Given the description of an element on the screen output the (x, y) to click on. 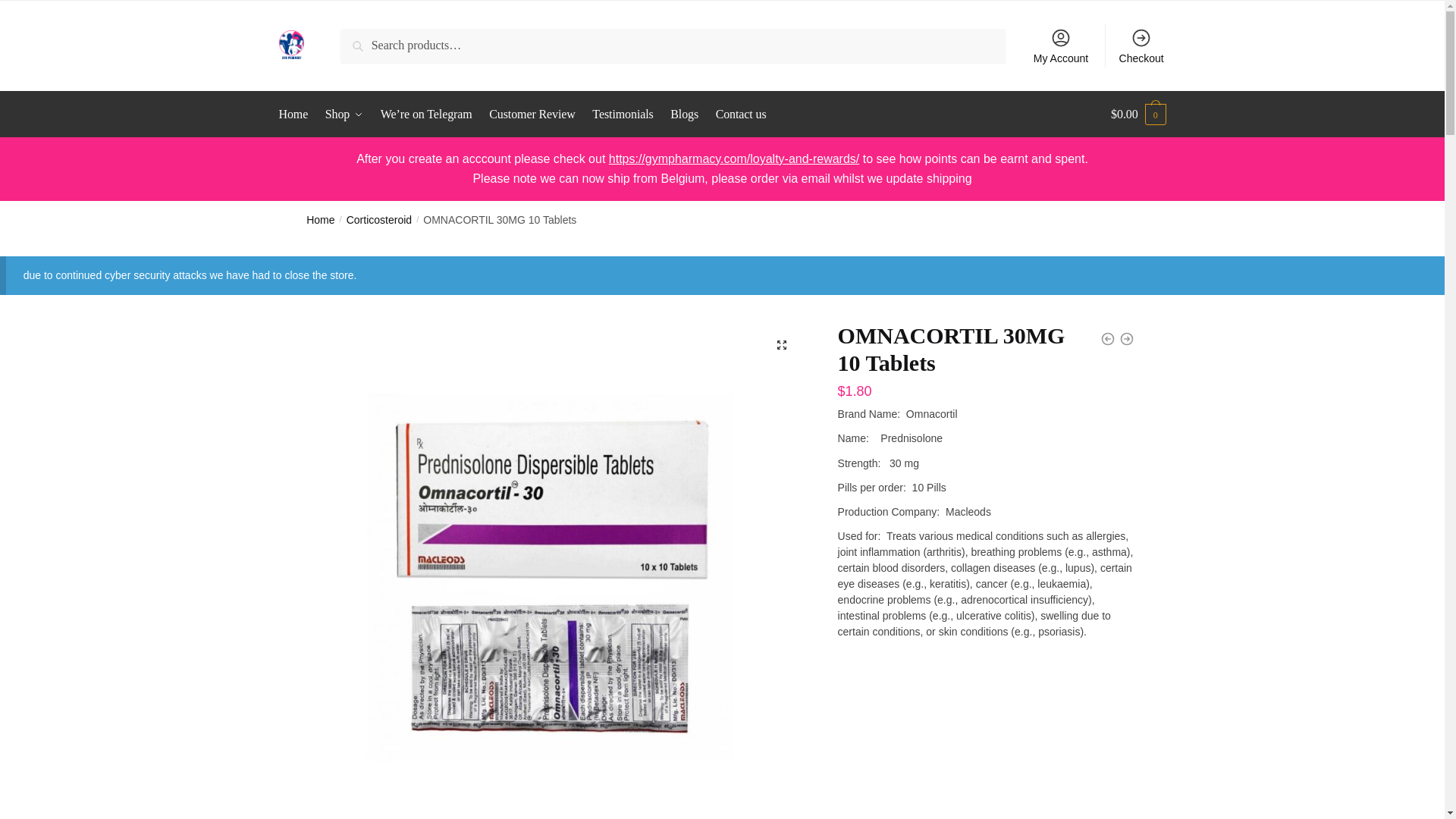
Customer Review (530, 114)
Search (361, 38)
Testimonials (623, 114)
Blogs (683, 114)
My Account (1061, 45)
Shop (343, 114)
View your shopping cart (1138, 114)
Contact us (741, 114)
Checkout (1141, 45)
Home (319, 219)
